Given the description of an element on the screen output the (x, y) to click on. 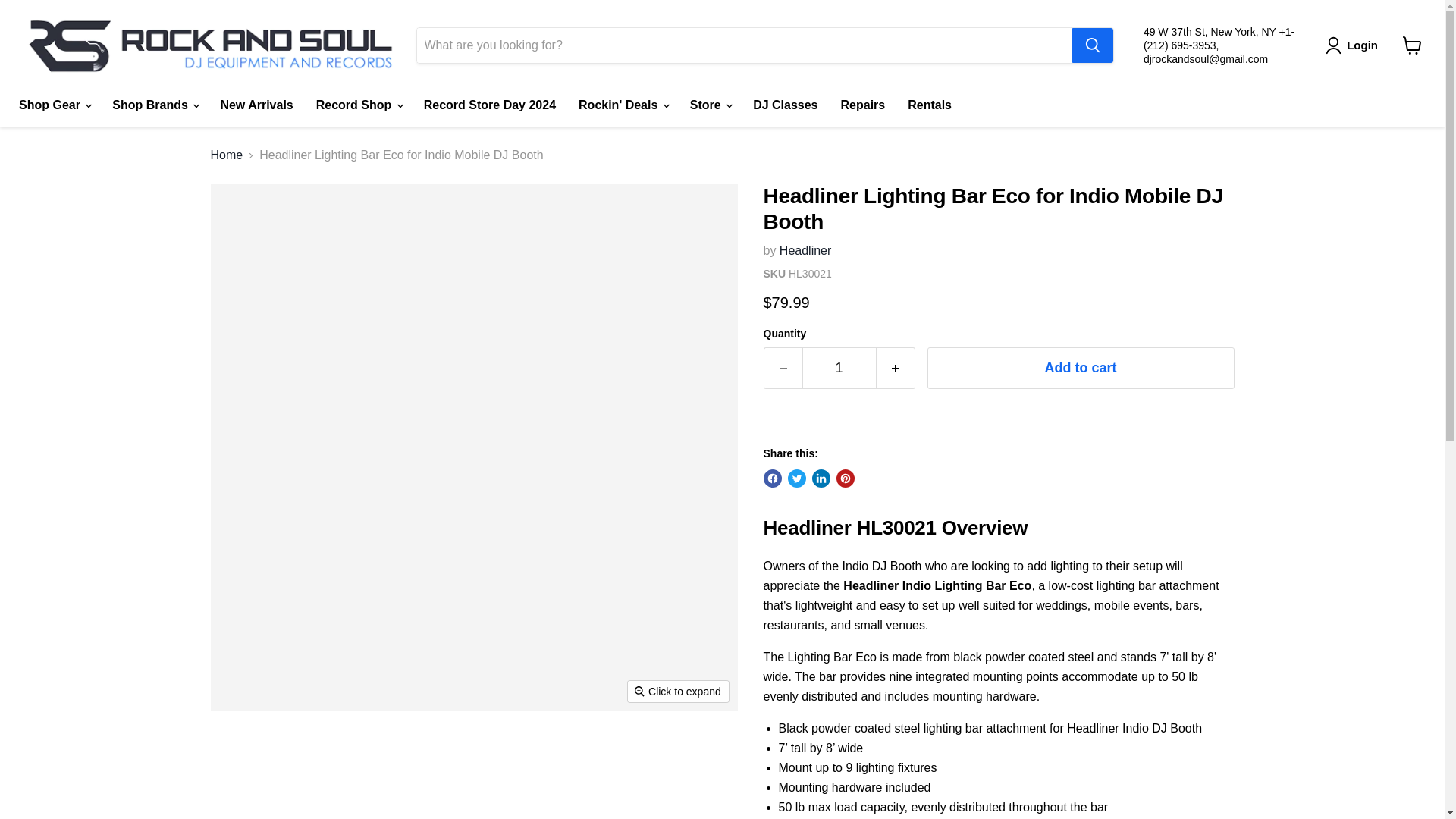
1 (839, 368)
View cart (1411, 45)
Headliner (804, 250)
Login (1354, 45)
